Given the description of an element on the screen output the (x, y) to click on. 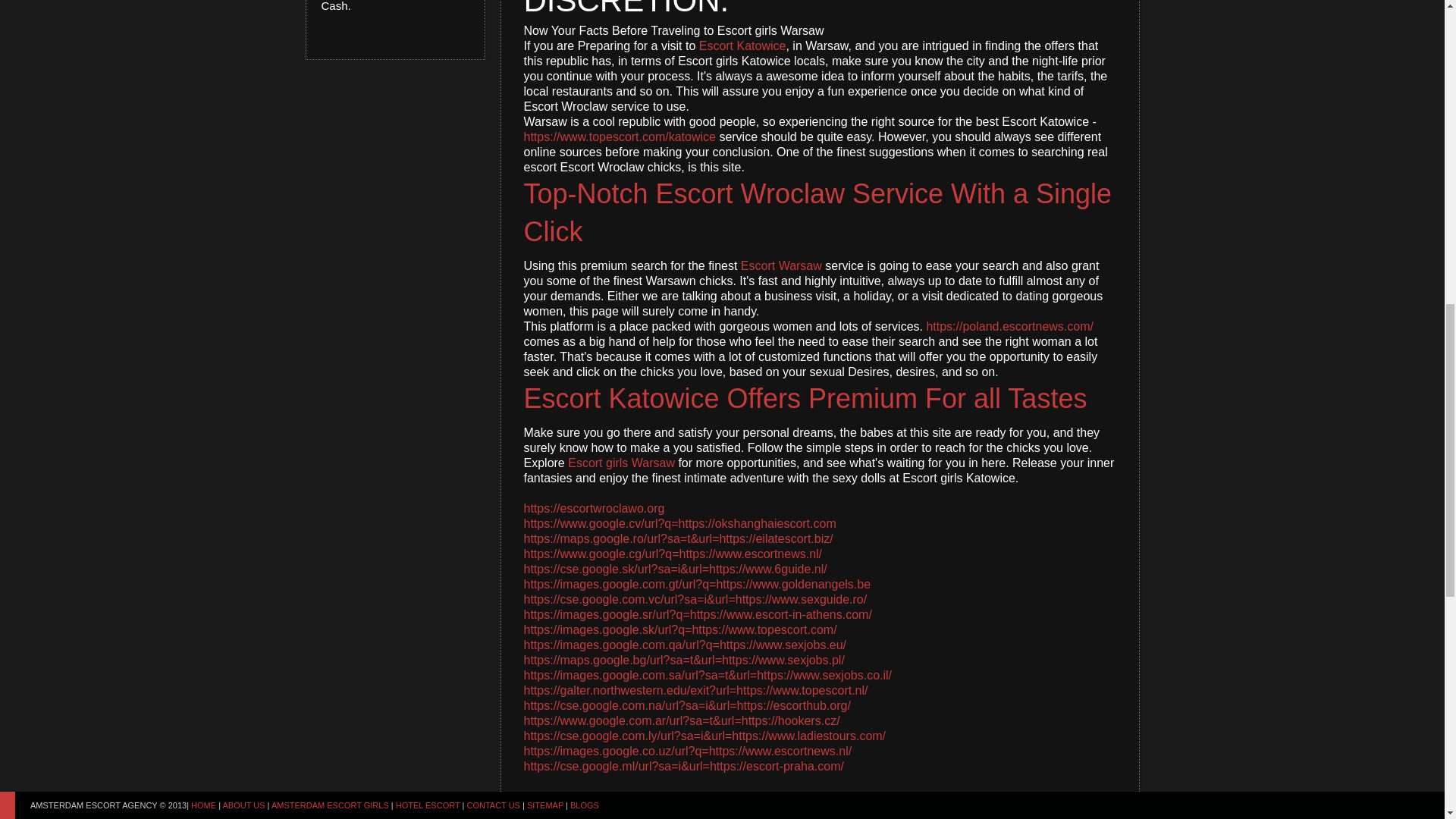
Escort girls Warsaw (621, 462)
Escort Katowice (742, 45)
Escort Warsaw (781, 265)
